Given the description of an element on the screen output the (x, y) to click on. 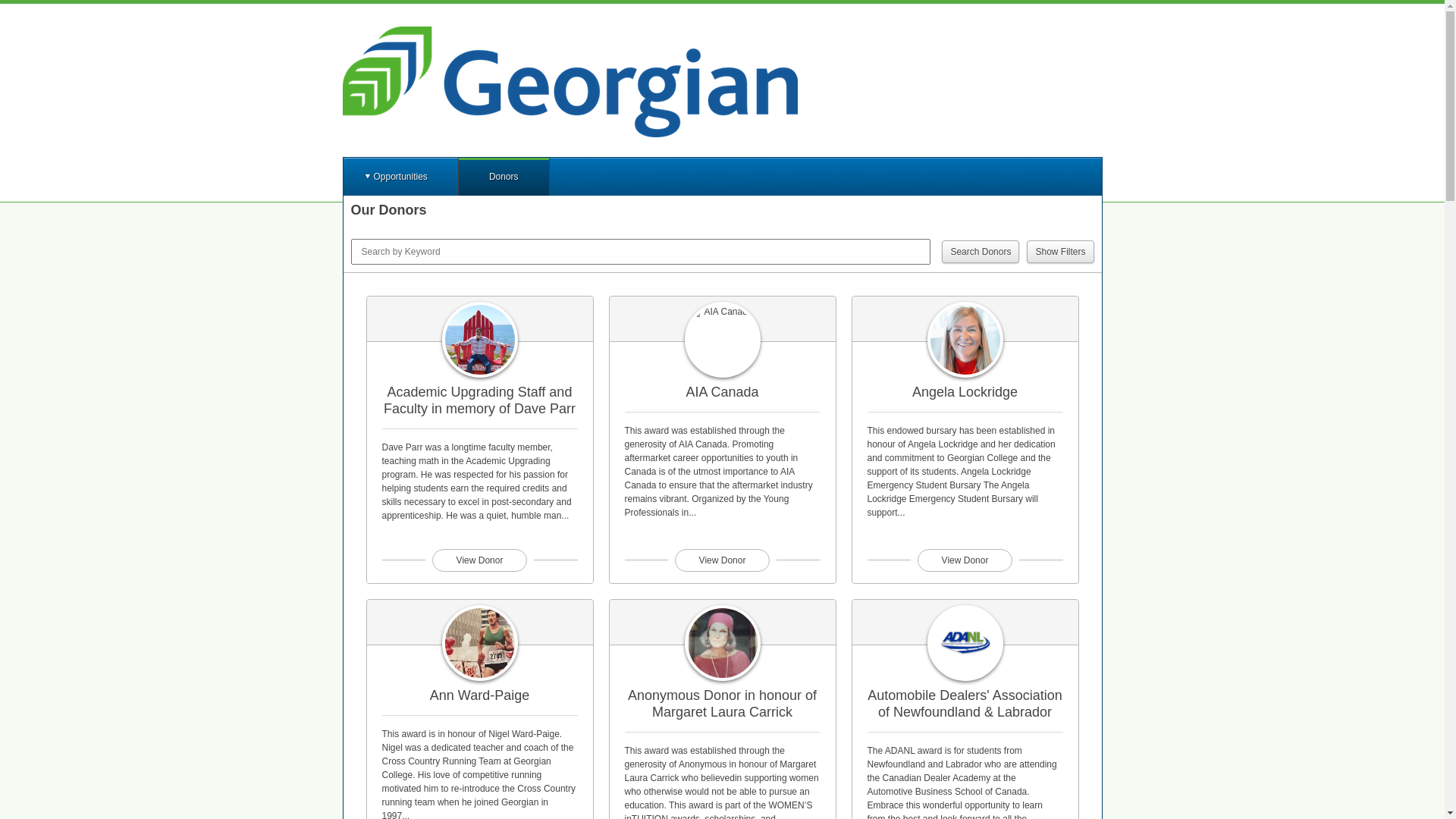
Georgian College Financial Aid and Awards  Element type: hover (569, 81)
View Donor Element type: text (964, 560)
Go Element type: text (14, 11)
Donors Element type: text (503, 176)
View Donor Element type: text (721, 560)
Search Donors Element type: text (980, 251)
View Donor Element type: text (479, 560)
Show Filters Element type: text (1059, 251)
Opportunities Element type: text (399, 176)
